Given the description of an element on the screen output the (x, y) to click on. 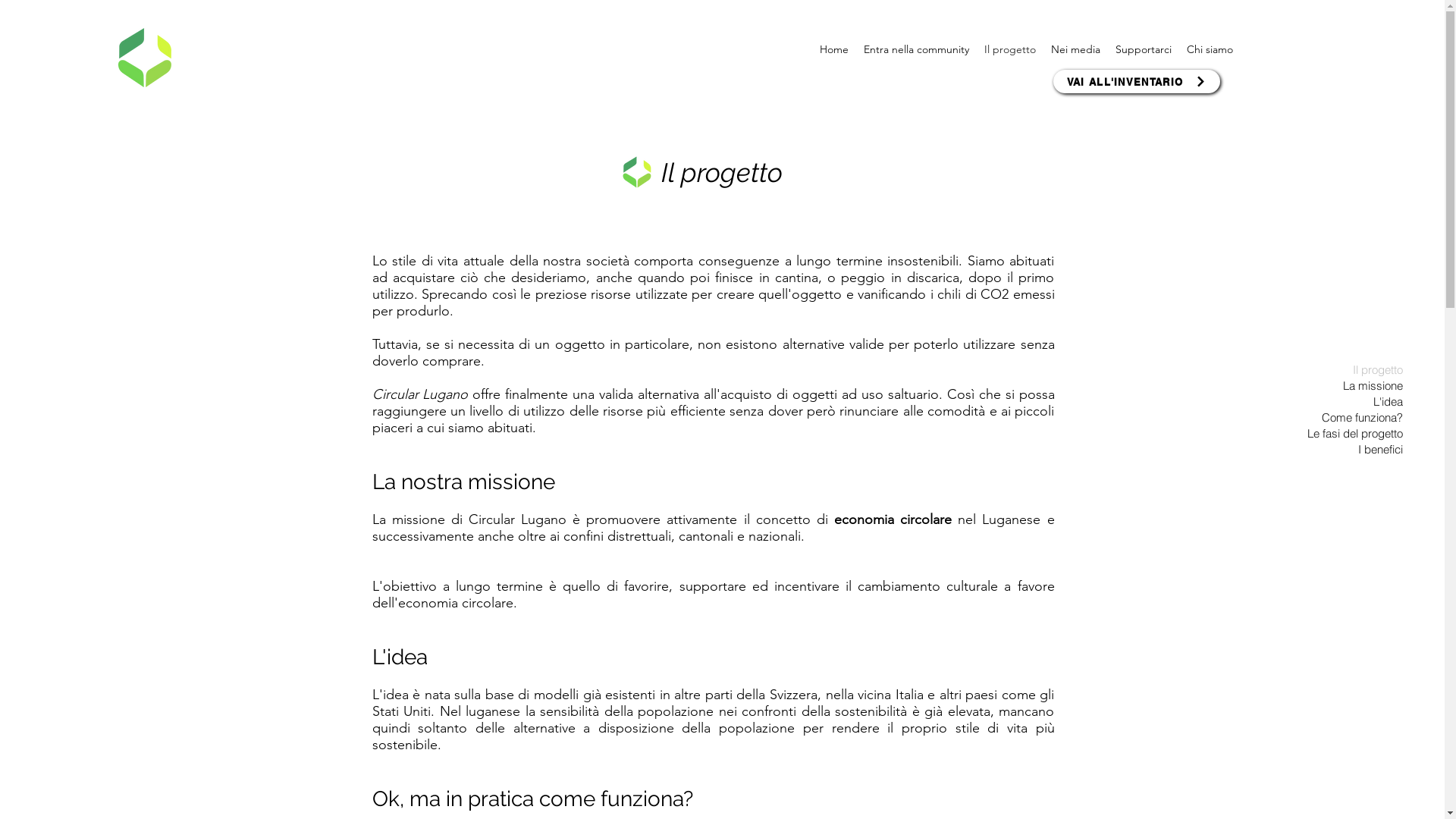
Chi siamo Element type: text (1209, 49)
Supportarci Element type: text (1143, 49)
Il progetto Element type: text (1009, 49)
Nei media Element type: text (1075, 49)
Le fasi del progetto Element type: text (1343, 433)
L'idea Element type: text (1343, 401)
La missione Element type: text (1343, 385)
VAI ALL'INVENTARIO Element type: text (1136, 81)
Il progetto Element type: text (1343, 369)
Entra nella community Element type: text (916, 49)
I benefici Element type: text (1343, 449)
Come funziona? Element type: text (1343, 417)
Home Element type: text (834, 49)
